Given the description of an element on the screen output the (x, y) to click on. 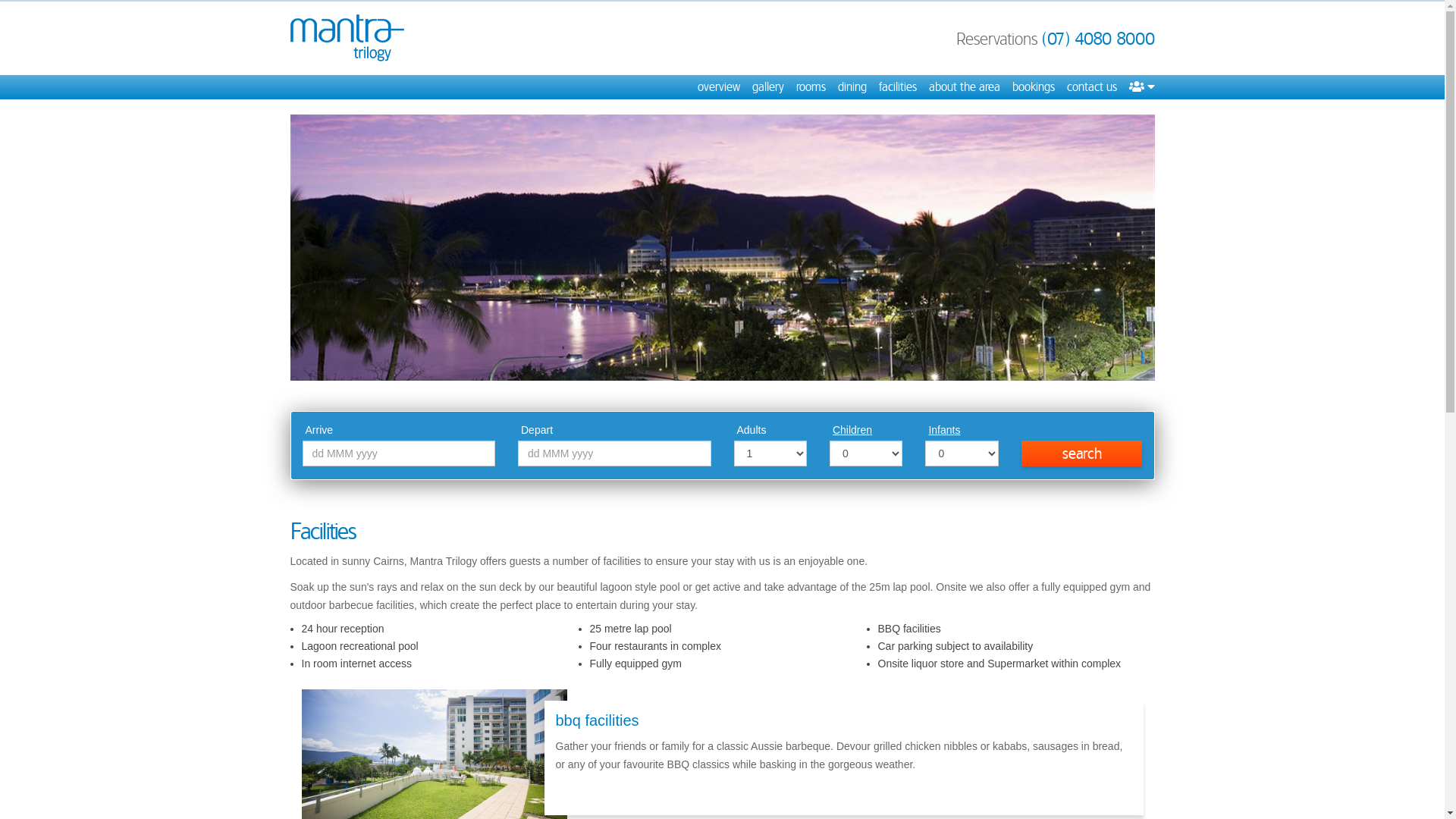
bookings Element type: text (1032, 87)
about the area Element type: text (963, 87)
overview Element type: text (718, 87)
Mantra Trilogy Element type: hover (346, 37)
search Element type: text (1081, 453)
dining Element type: text (851, 87)
facilities Element type: text (897, 87)
(07) 4080 8000 Element type: text (1097, 38)
rooms Element type: text (810, 87)
contact us Element type: text (1091, 87)
gallery Element type: text (768, 87)
About the Area - Mantra Trilogy Element type: hover (721, 247)
